Given the description of an element on the screen output the (x, y) to click on. 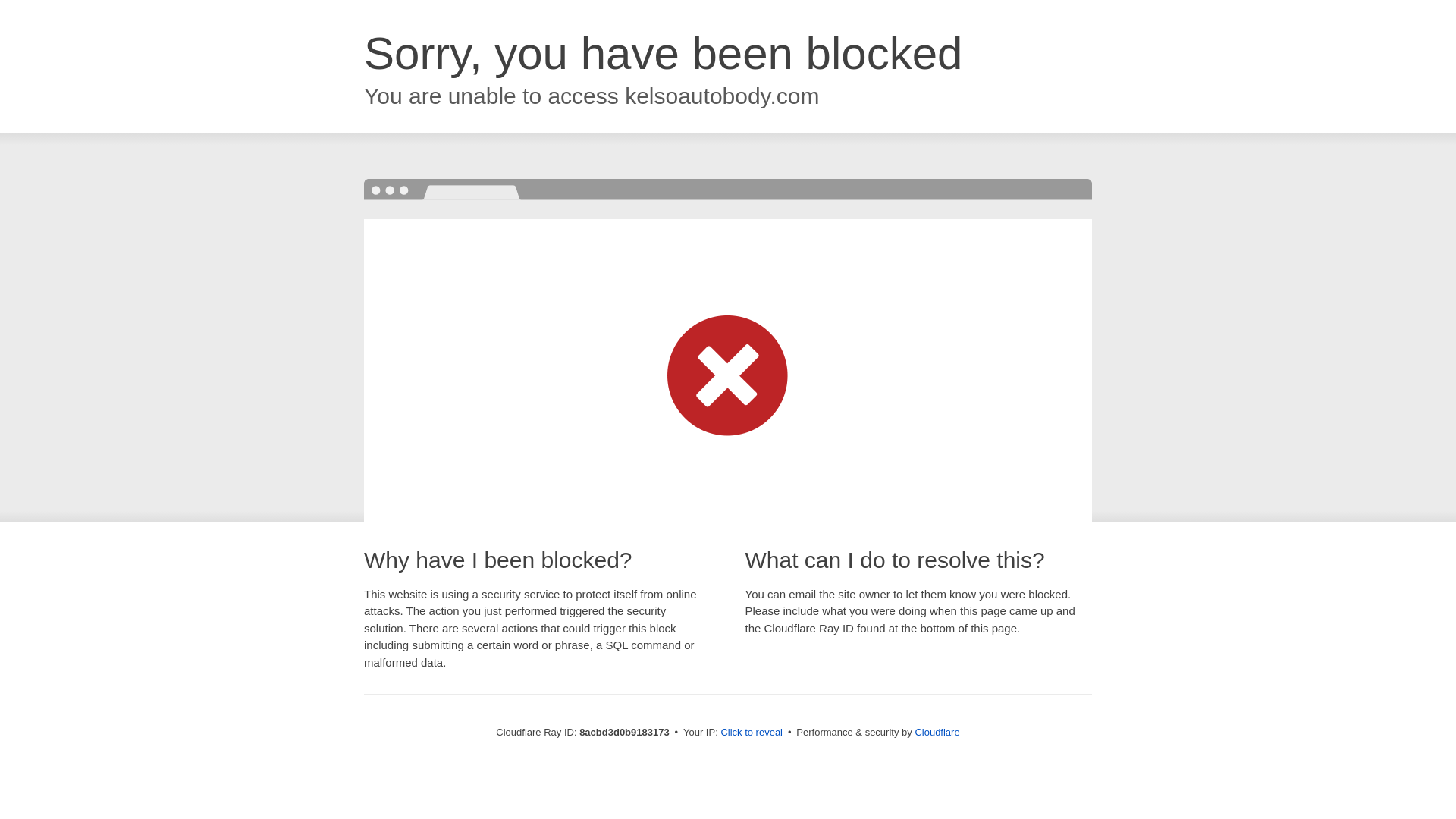
Click to reveal (751, 732)
Cloudflare (936, 731)
